Given the description of an element on the screen output the (x, y) to click on. 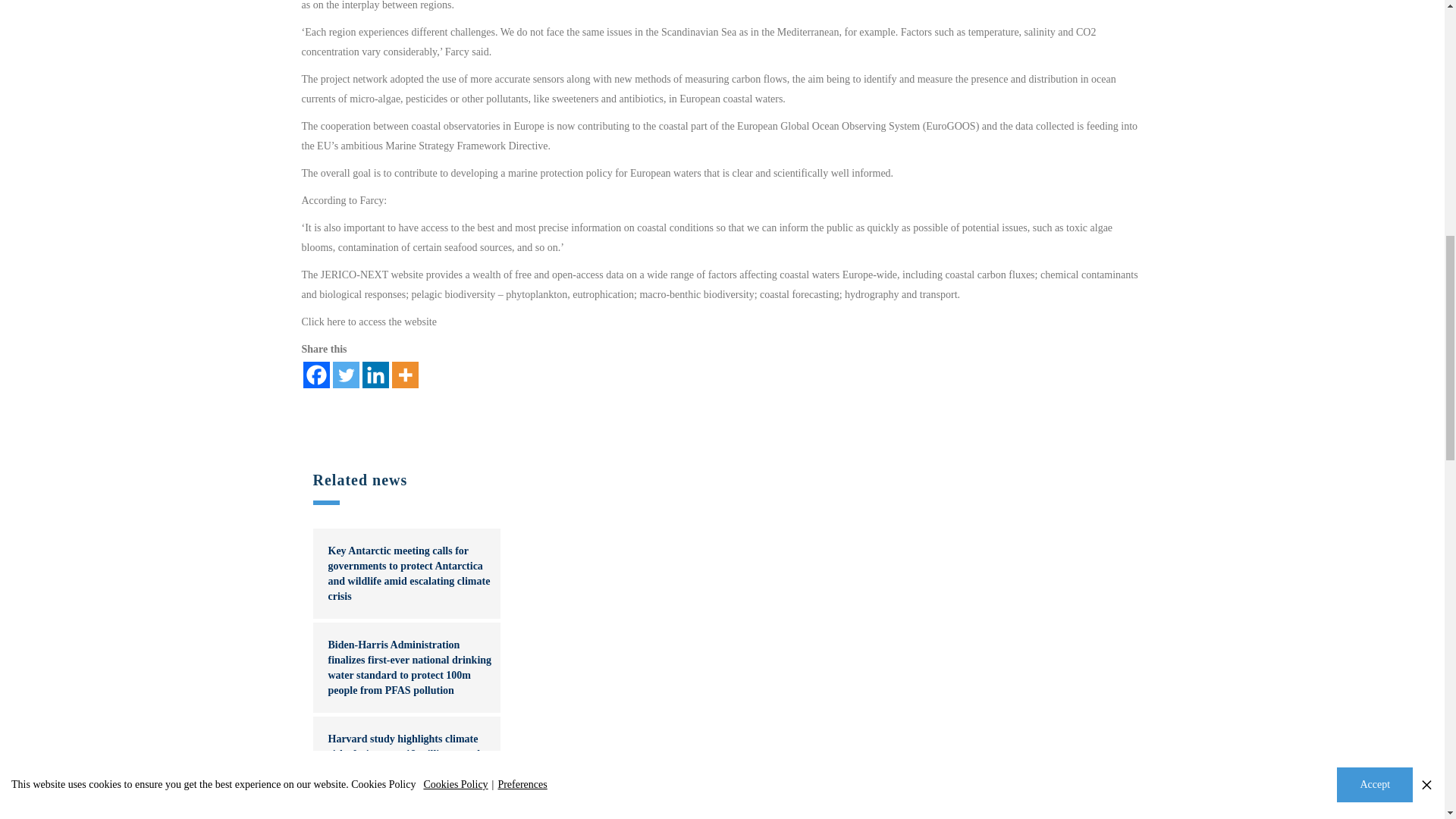
More (404, 374)
Linkedin (375, 374)
Twitter (344, 374)
Facebook (316, 374)
